Given the description of an element on the screen output the (x, y) to click on. 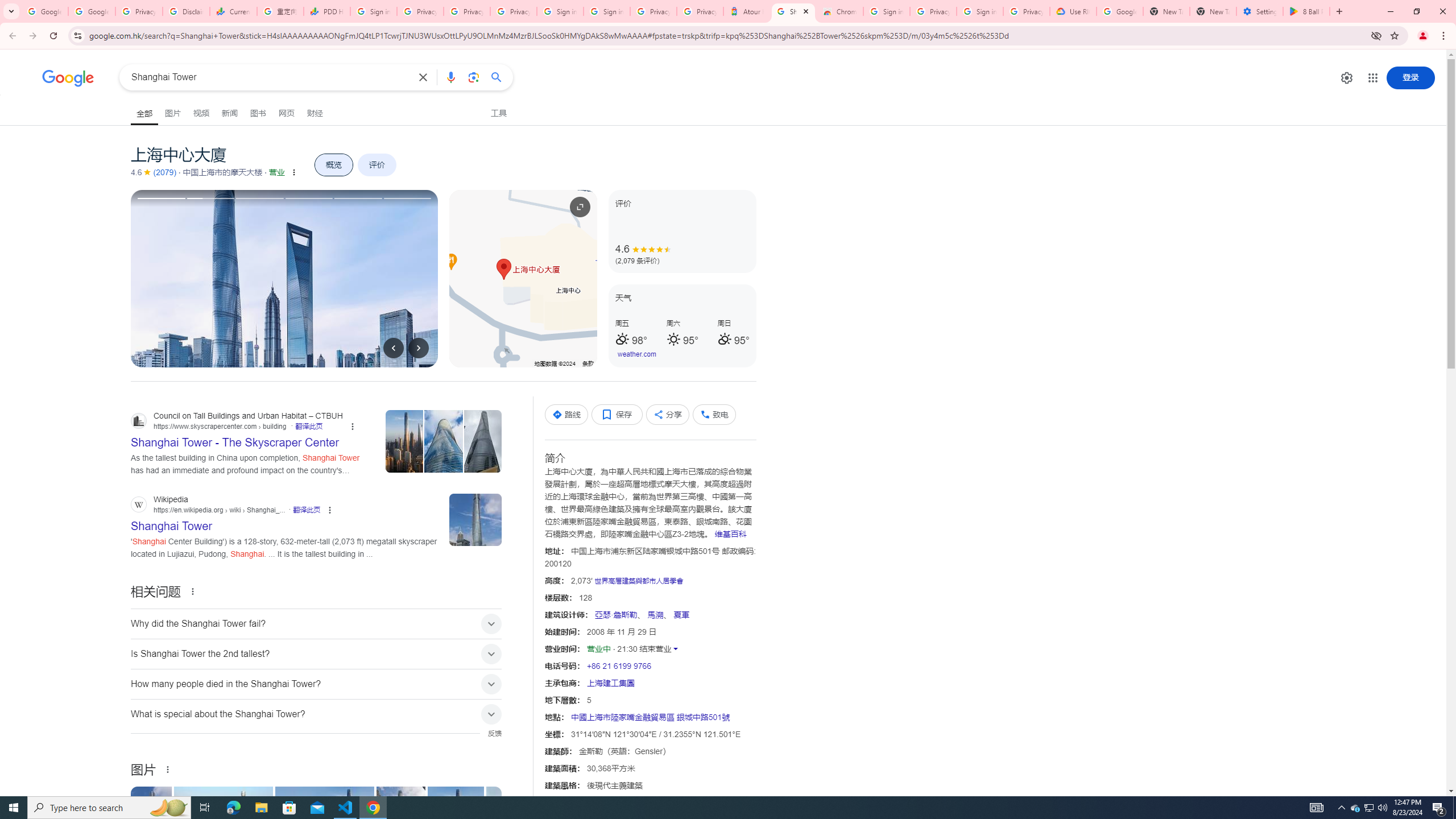
Privacy Checkup (466, 11)
Is Shanghai Tower the 2nd tallest? (316, 653)
Atour Hotel - Google hotels (745, 11)
Privacy Checkup (512, 11)
